Given the description of an element on the screen output the (x, y) to click on. 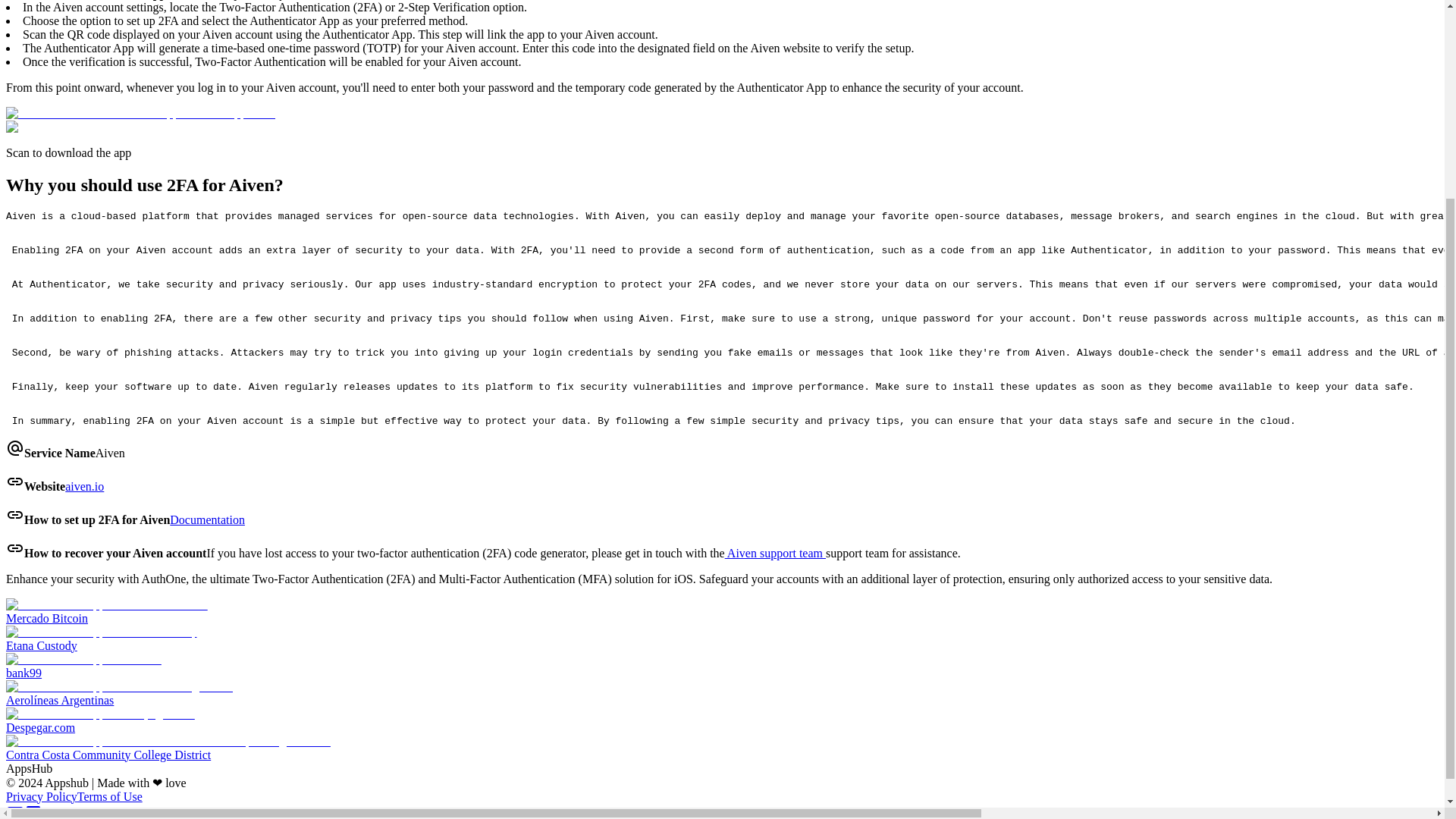
Etana Custody (721, 638)
Contra Costa Community College District (721, 748)
aiven.io (84, 486)
Terms of Use (109, 796)
bank99 (721, 666)
Documentation (207, 519)
Mercado Bitcoin (721, 611)
Privacy Policy (41, 796)
Despegar.com (721, 720)
Aiven support team (775, 553)
